Given the description of an element on the screen output the (x, y) to click on. 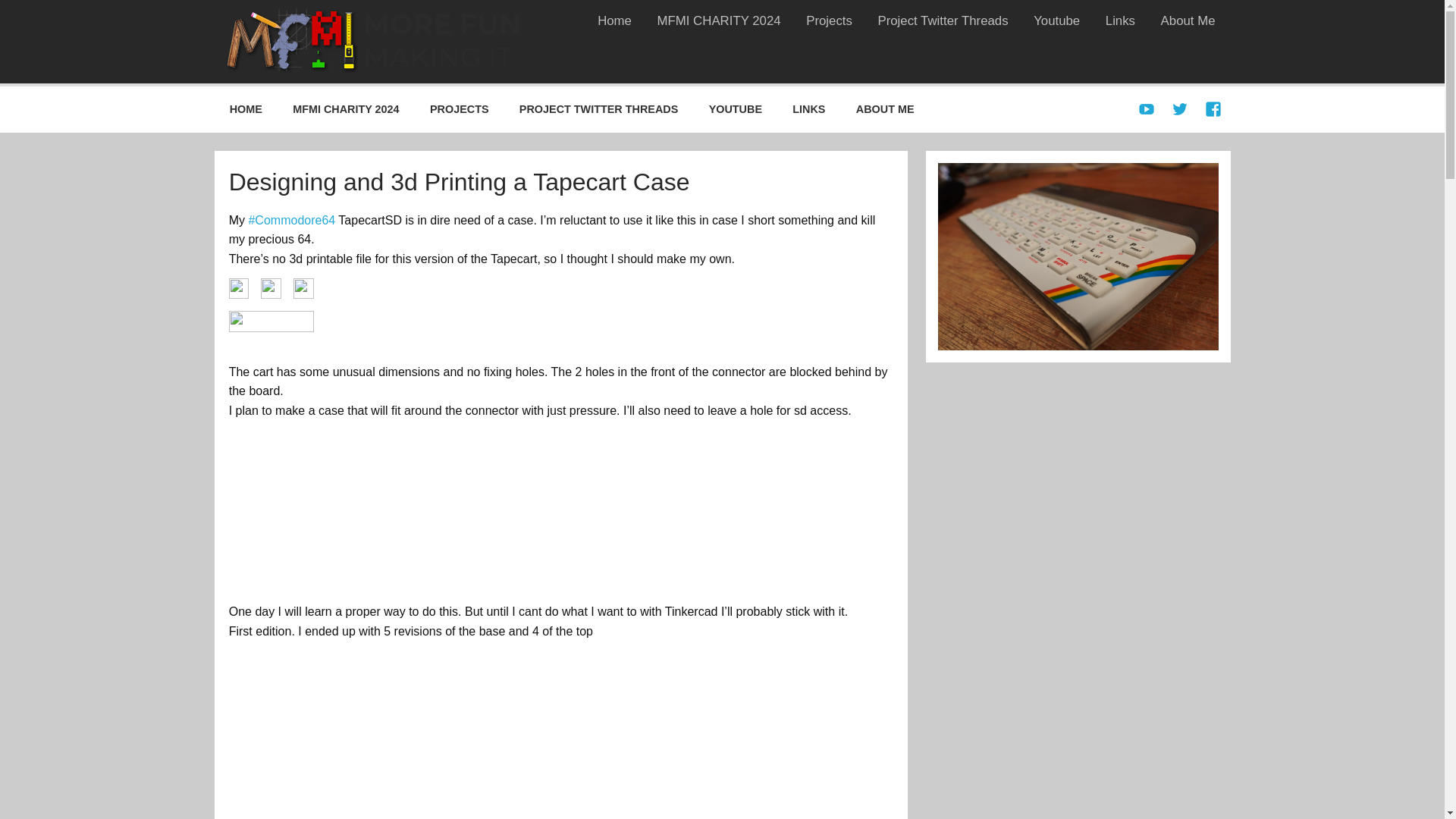
Project Twitter Threads (943, 20)
YOUTUBE (735, 108)
LINKS (809, 108)
MFMI CHARITY 2024 (719, 20)
ABOUT ME (885, 108)
Youtube (1056, 20)
HOME (246, 108)
MFMI CHARITY 2024 (346, 108)
PROJECT TWITTER THREADS (598, 108)
Links (1120, 20)
